Given the description of an element on the screen output the (x, y) to click on. 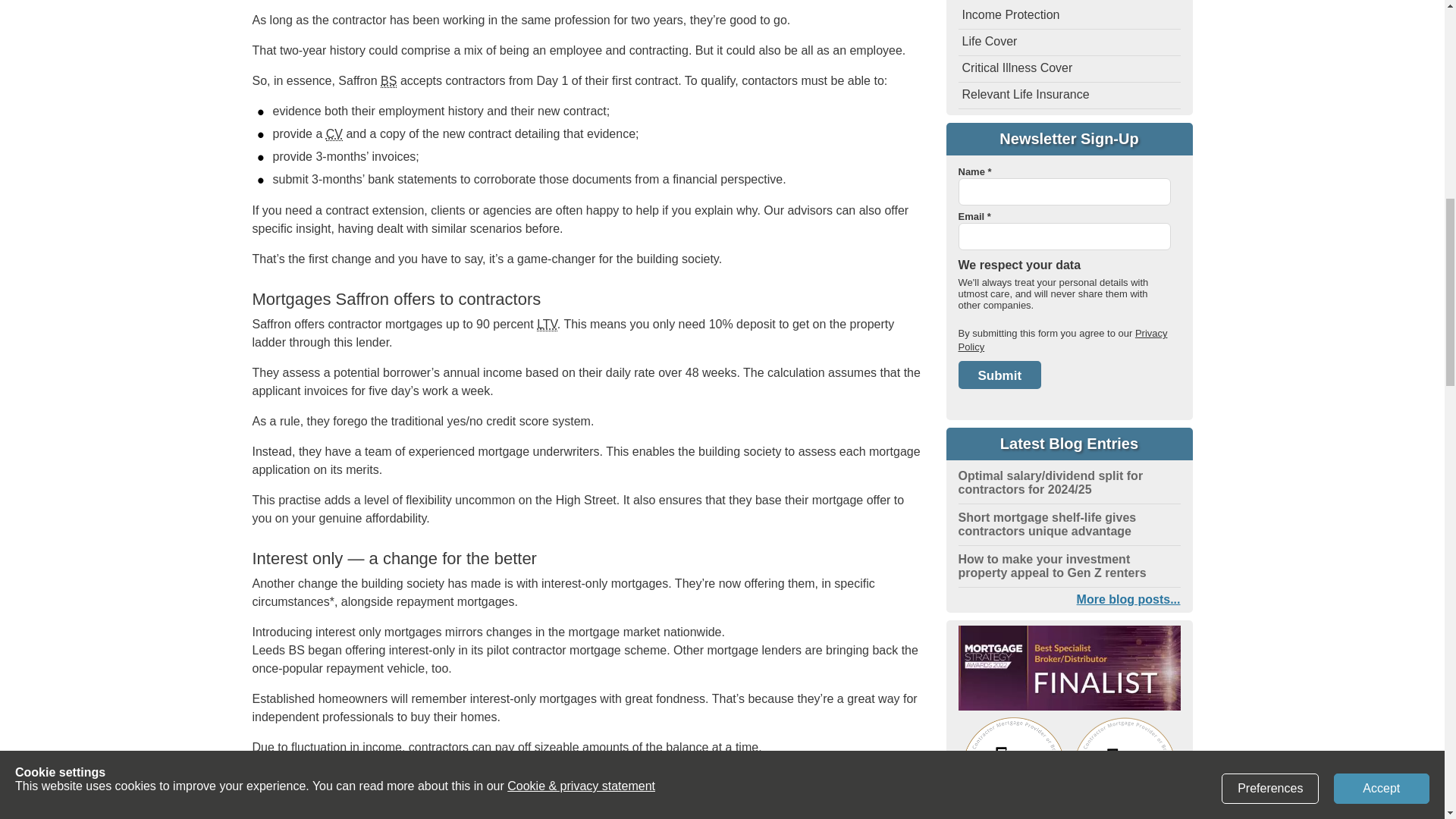
Building Society (388, 80)
Life Cover (1069, 45)
Submit (1000, 375)
Privacy Policy (1062, 339)
Critical Illness Cover (1069, 71)
How to make your investment property appeal to Gen Z renters (1052, 565)
More blog posts... (1128, 599)
Submit (1000, 375)
Relevant Life Insurance (1069, 97)
Short mortgage shelf-life gives contractors unique advantage (1047, 524)
Loan-To-Value (547, 324)
Curriculum Vitae (334, 133)
Income Protection (1069, 18)
